Given the description of an element on the screen output the (x, y) to click on. 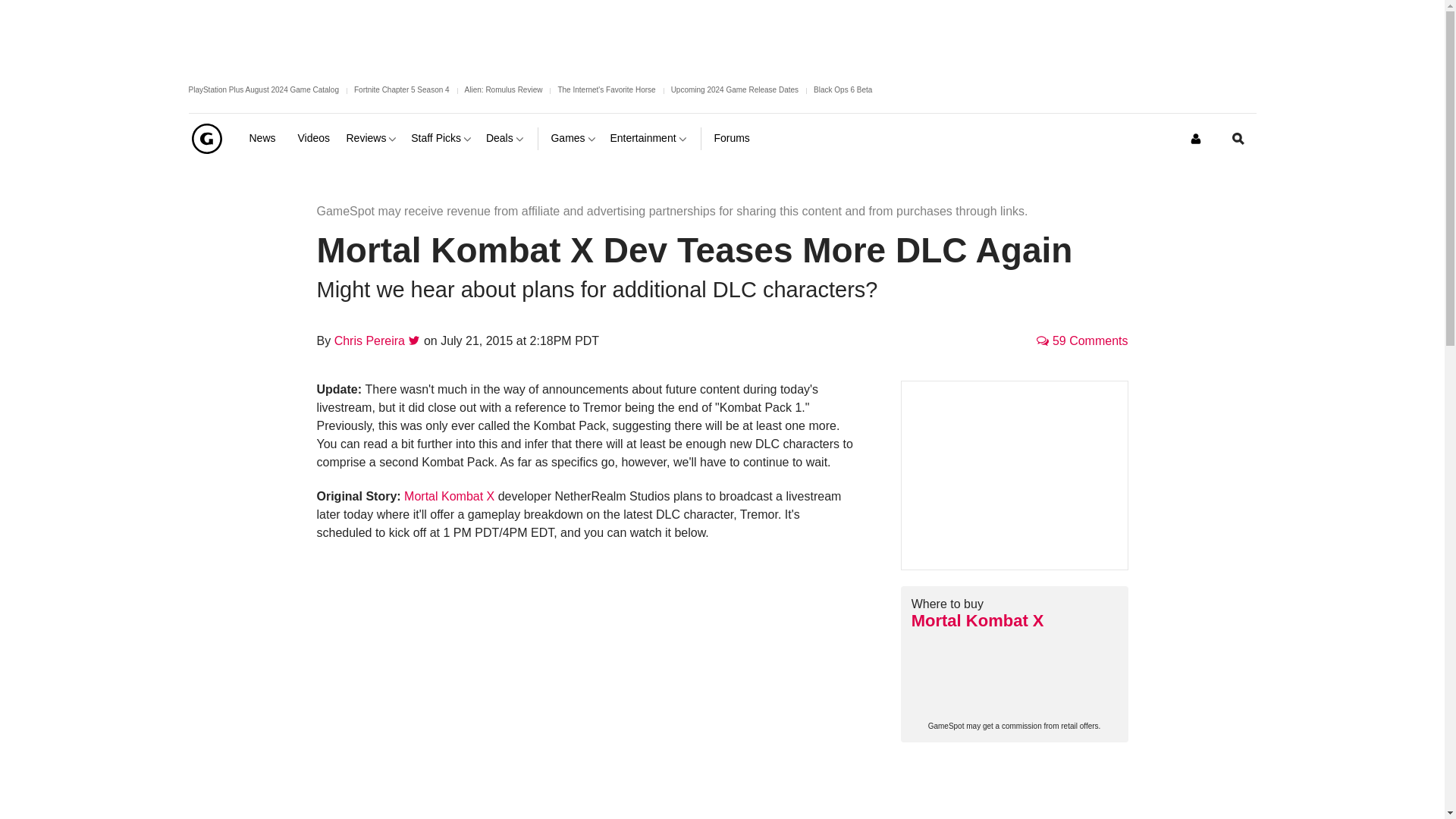
The Internet's Favorite Horse (606, 89)
Staff Picks (442, 138)
Black Ops 6 Beta (842, 89)
Deals (505, 138)
Upcoming 2024 Game Release Dates (734, 89)
Games (573, 138)
Reviews (372, 138)
Videos (315, 138)
PlayStation Plus August 2024 Game Catalog (262, 89)
